Given the description of an element on the screen output the (x, y) to click on. 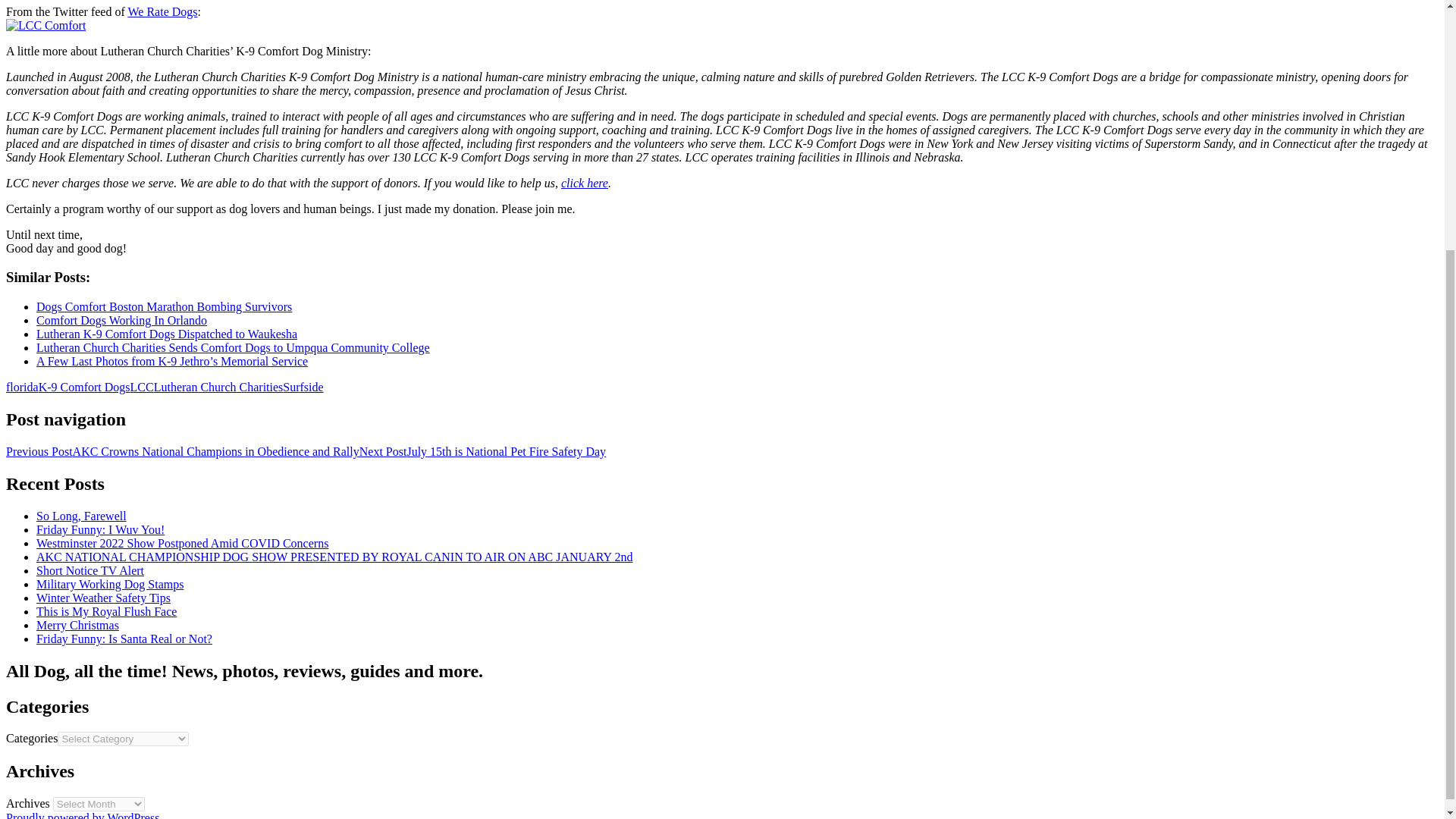
So Long, Farewell (81, 515)
Friday Funny: I Wuv You! (100, 529)
We Rate Dogs (162, 11)
Westminster 2022 Show Postponed Amid COVID Concerns (182, 543)
Military Working Dog Stamps (109, 584)
Short Notice TV Alert (90, 570)
Next PostJuly 15th is National Pet Fire Safety Day (482, 451)
Dogs Comfort Boston Marathon Bombing Survivors (164, 306)
florida (22, 386)
click here (584, 182)
Comfort Dogs Working In Orlando (121, 319)
Dogs Comfort Boston Marathon Bombing Survivors (164, 306)
Surfside (302, 386)
